Given the description of an element on the screen output the (x, y) to click on. 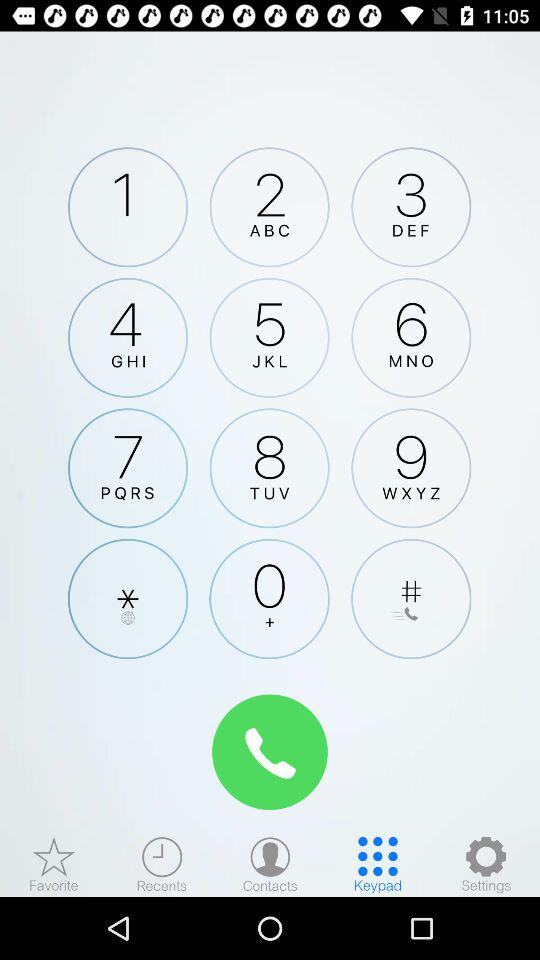
clique para adicionar um asterisco (127, 598)
